Given the description of an element on the screen output the (x, y) to click on. 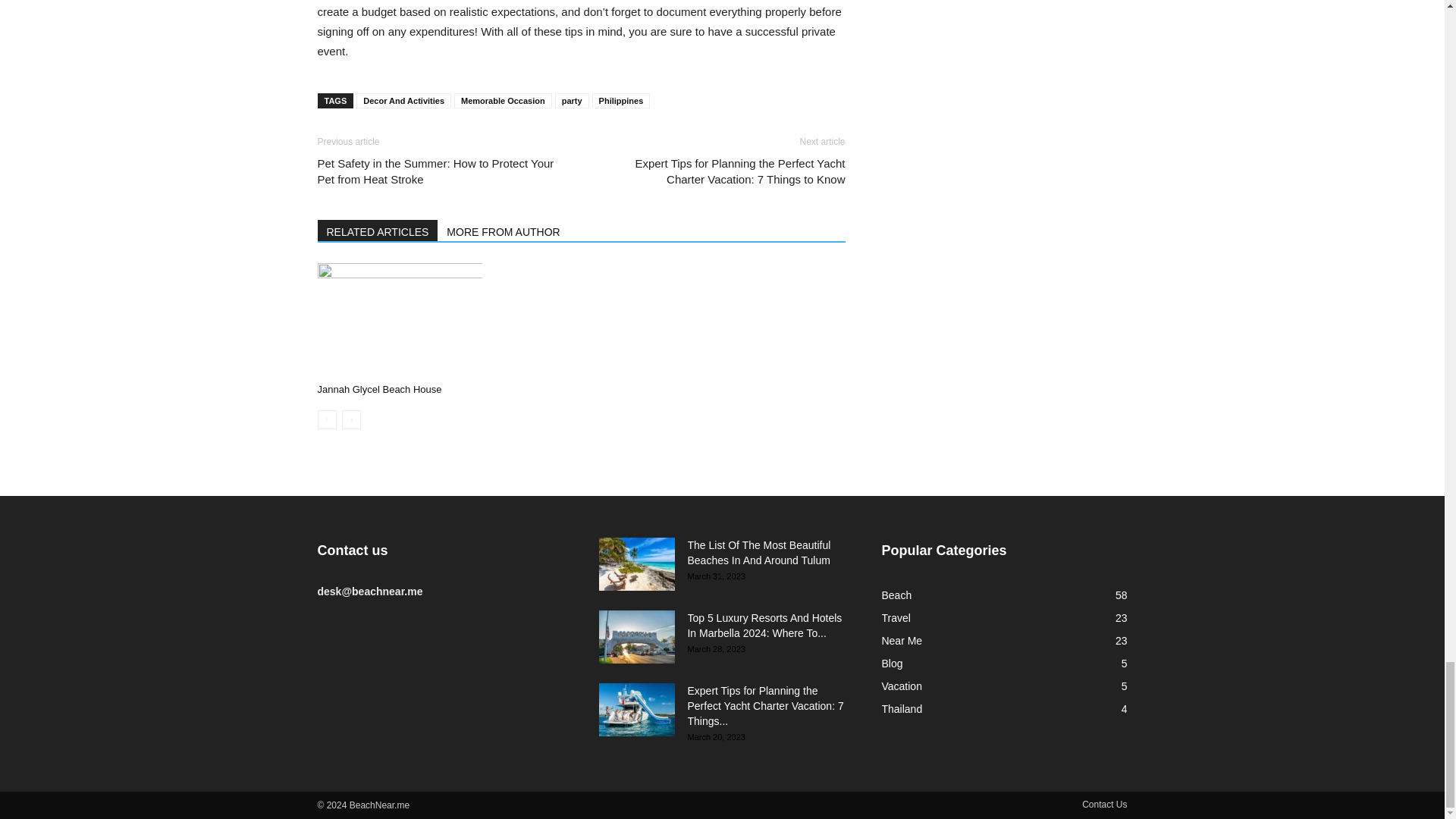
Decor And Activities (403, 100)
party (571, 100)
Jannah Glycel Beach House (379, 389)
Jannah Glycel Beach House (399, 319)
Philippines (621, 100)
The List Of The Most Beautiful Beaches In And Around Tulum (636, 563)
The List Of The Most Beautiful Beaches In And Around Tulum (758, 552)
Memorable Occasion (502, 100)
